Given the description of an element on the screen output the (x, y) to click on. 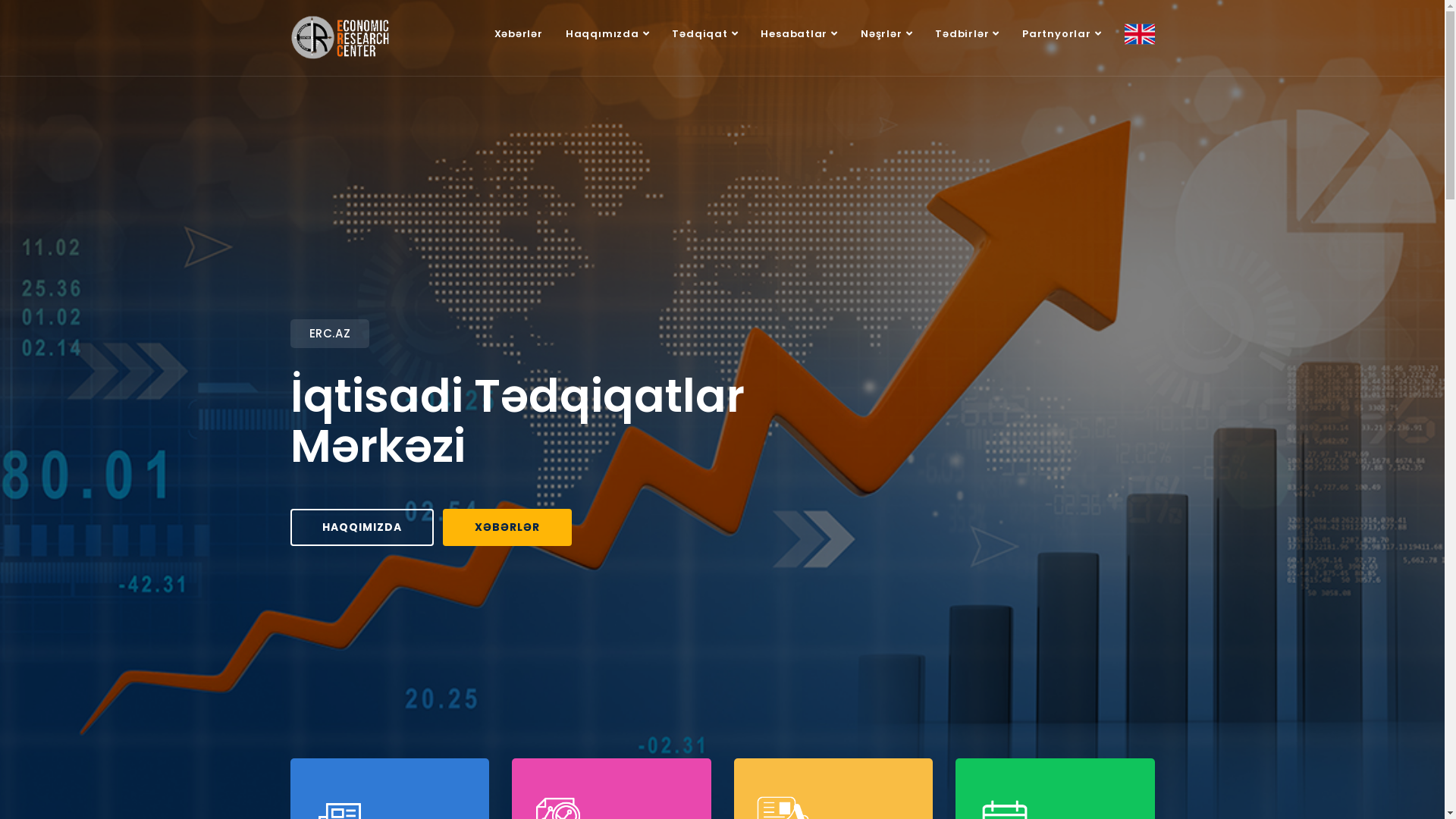
HAQQIMIZDA Element type: text (361, 526)
Partnyorlar Element type: text (1061, 34)
Hesabatlar Element type: text (799, 34)
